Given the description of an element on the screen output the (x, y) to click on. 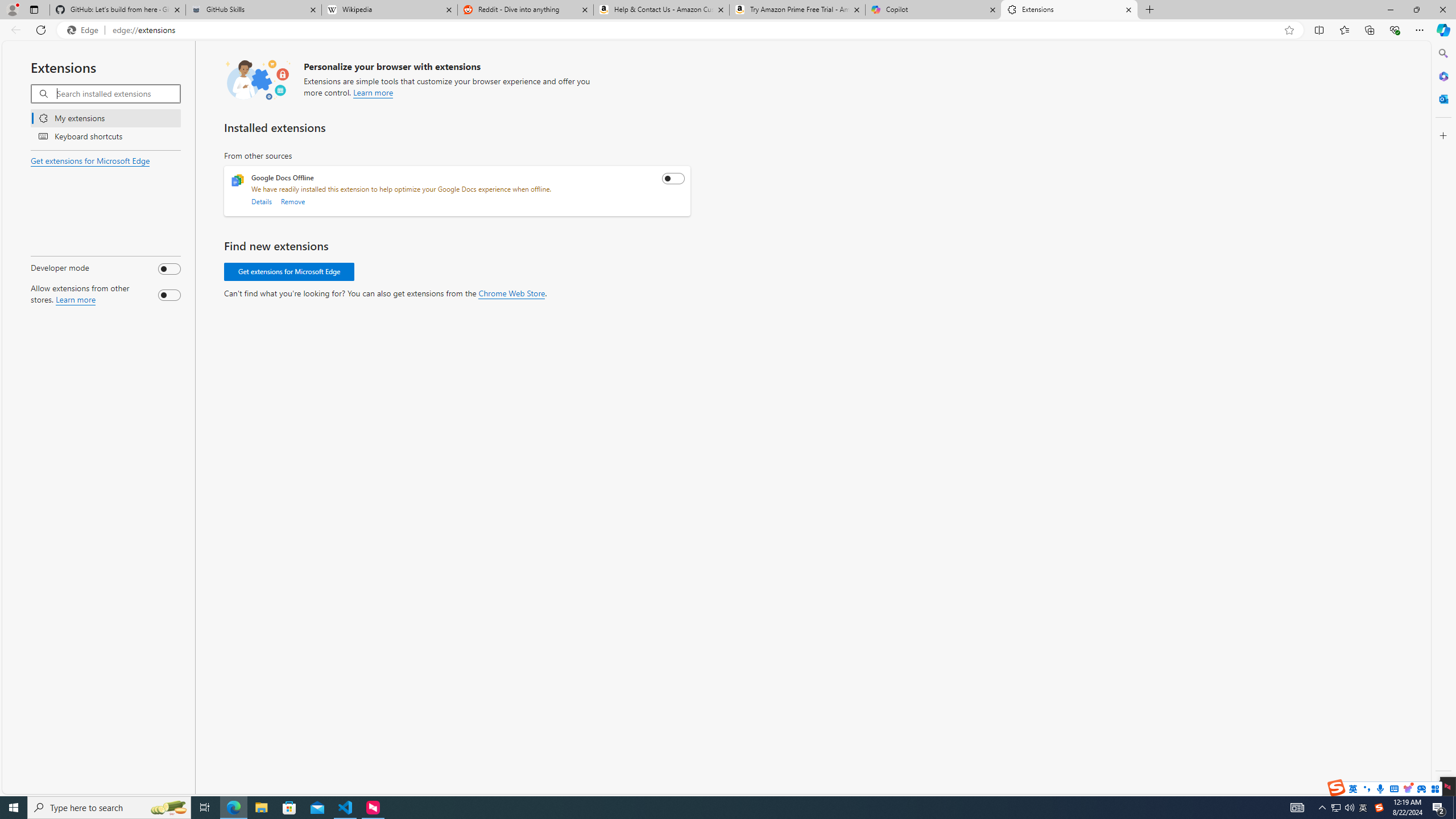
Get extensions for Microsoft Edge (289, 271)
Remove (293, 200)
Edge (84, 29)
Allow extensions from other stores. (169, 294)
Turn on Google Docs Offline (673, 178)
Extensions (1068, 9)
Get extensions for Microsoft Edge (89, 160)
